Given the description of an element on the screen output the (x, y) to click on. 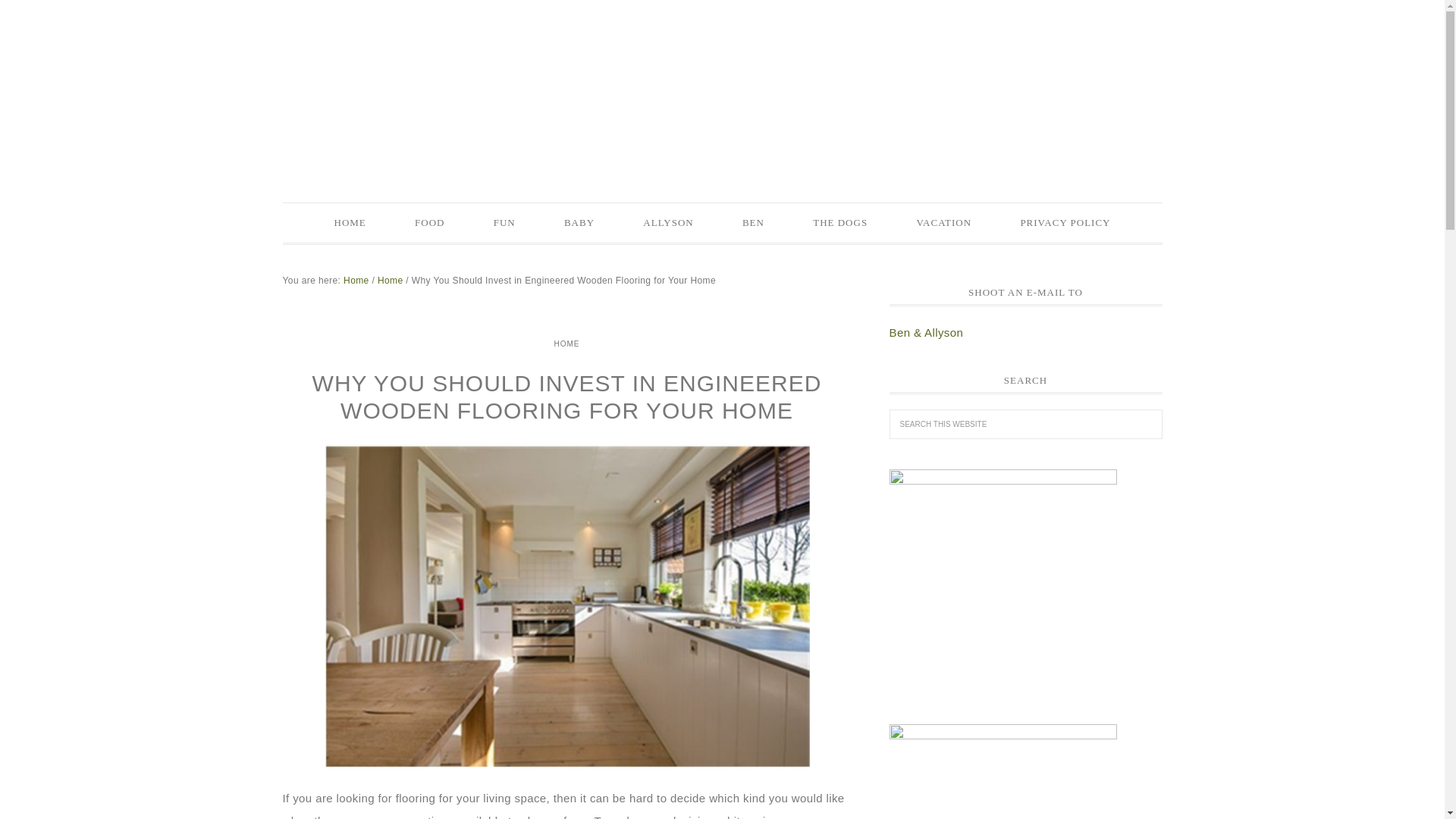
FUN (504, 222)
BABY (579, 222)
BEN (753, 222)
Home (390, 279)
FOOD (429, 222)
HOME (566, 342)
HOME (349, 222)
PRIVACY POLICY (1064, 222)
Home (356, 279)
